Given the description of an element on the screen output the (x, y) to click on. 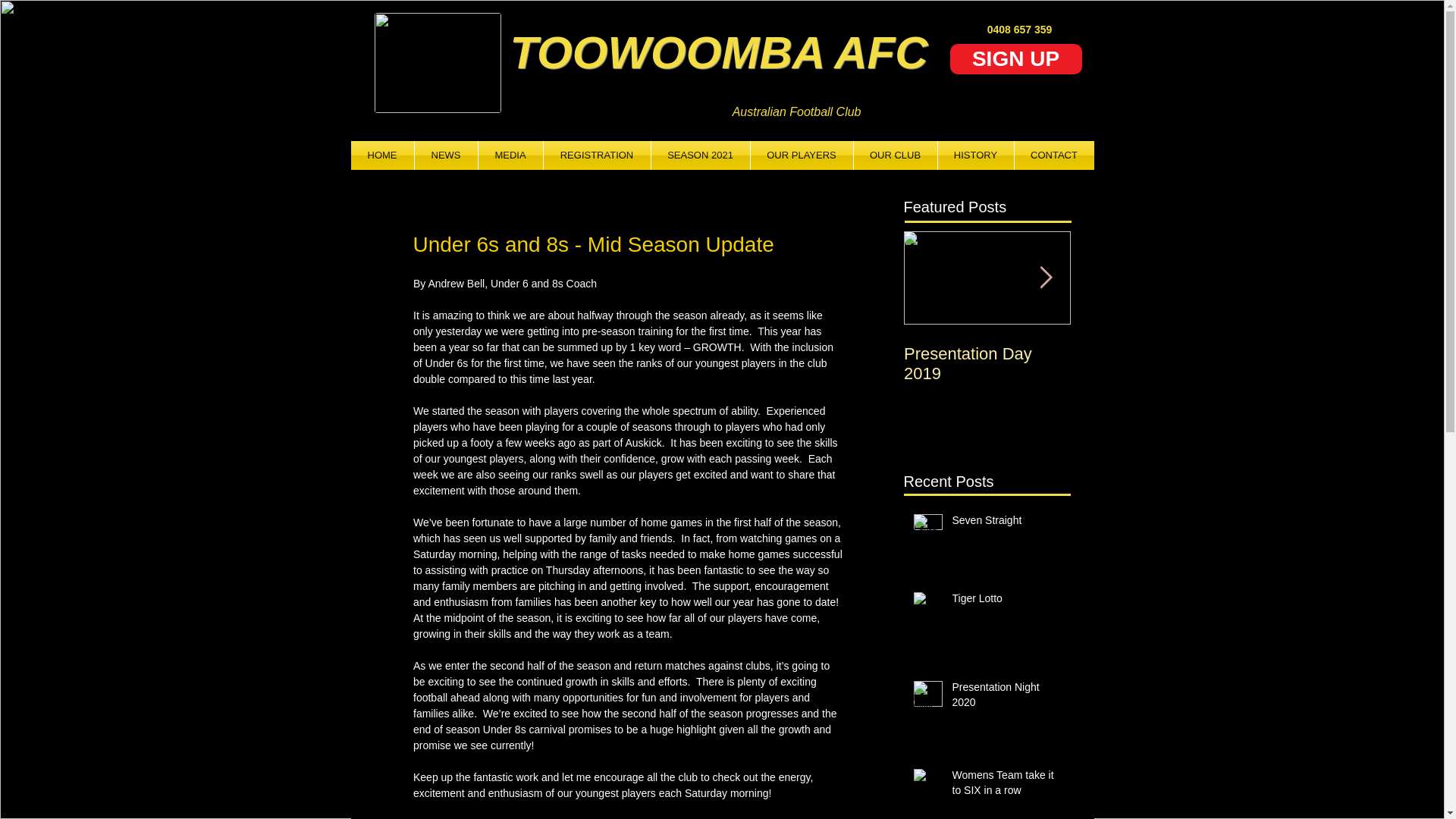
OUR CLUB (895, 154)
SEASON 2021 (699, 154)
REGISTRATION (596, 154)
SIGN UP (1015, 59)
OUR PLAYERS (802, 154)
HOME (381, 154)
HISTORY (975, 154)
NEWS (445, 154)
MEDIA (509, 154)
